Given the description of an element on the screen output the (x, y) to click on. 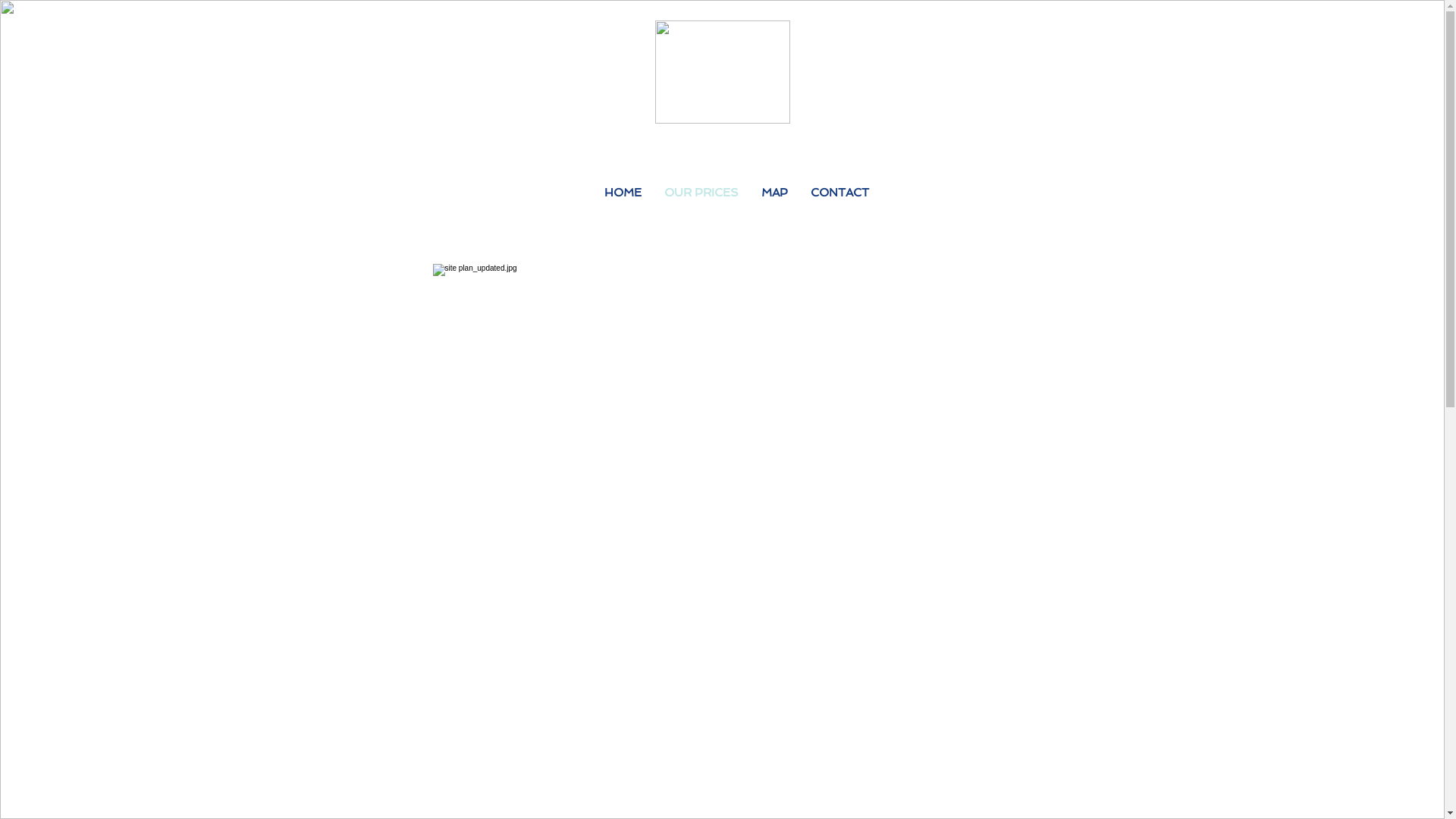
HOME Element type: text (622, 192)
CONTACT Element type: text (839, 192)
OUR PRICES Element type: text (700, 192)
MAP Element type: text (773, 192)
